Given the description of an element on the screen output the (x, y) to click on. 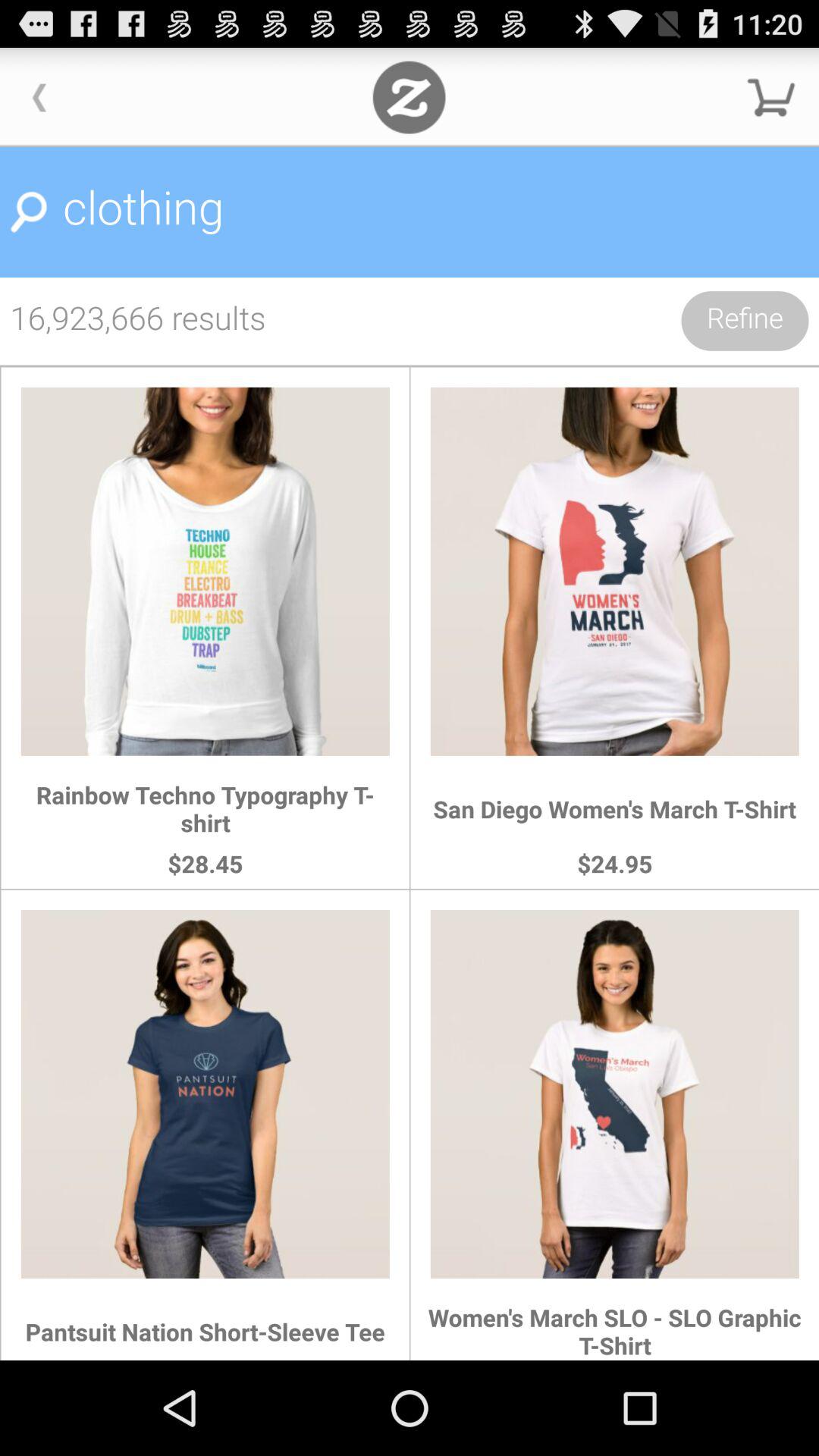
view shopping cart (771, 97)
